Given the description of an element on the screen output the (x, y) to click on. 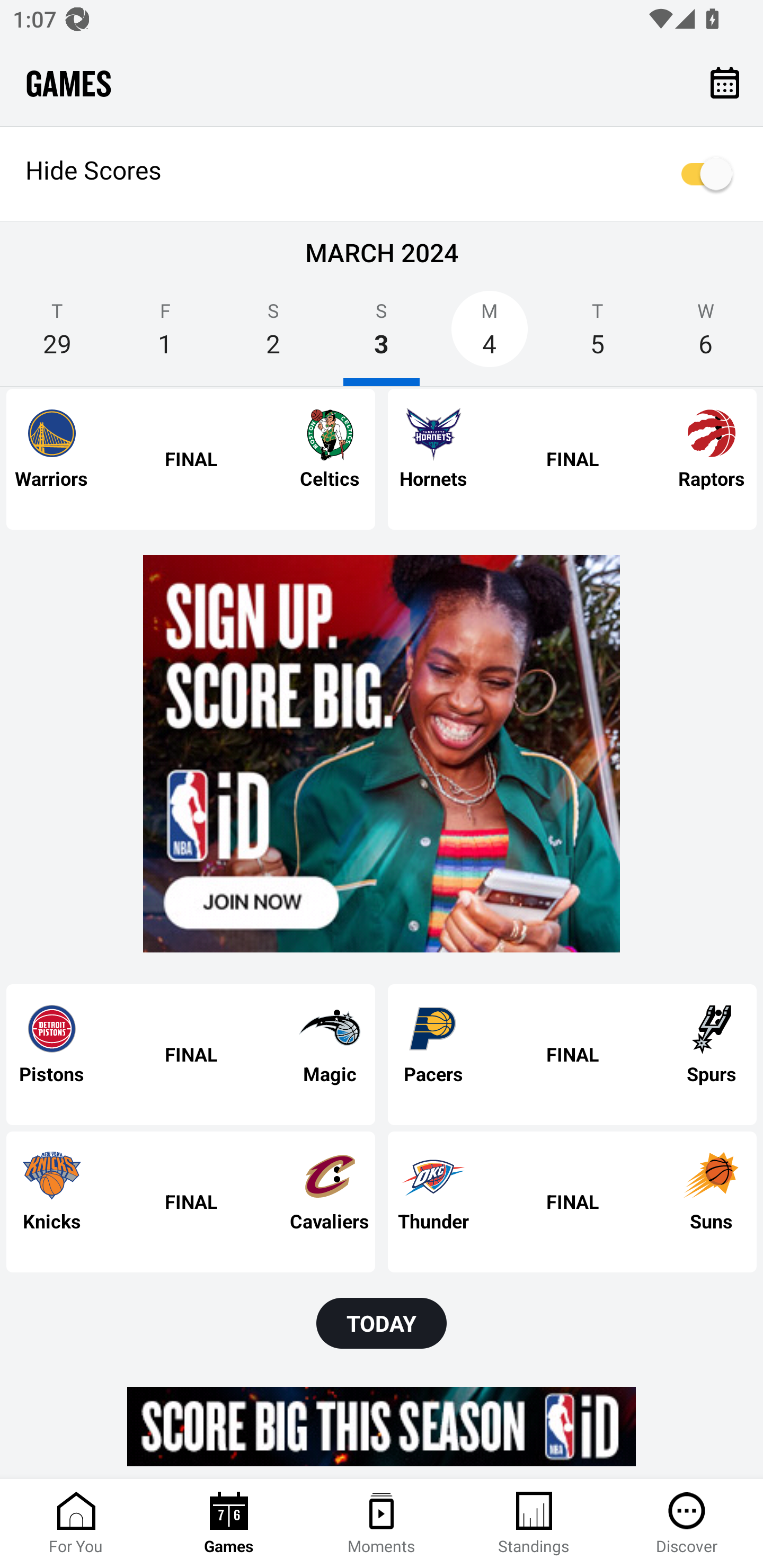
Calendar (724, 81)
Hide Scores (381, 174)
T 29 (57, 334)
F 1 (165, 334)
S 2 (273, 334)
S 3 (381, 334)
M 4 (489, 334)
T 5 (597, 334)
W 6 (705, 334)
Post Game - Pistons at Magic Pistons FINAL Magic (190, 1054)
Post Game - Pacers at Spurs Pacers FINAL Spurs (571, 1054)
Post Game - Thunder at Suns Thunder FINAL Suns (571, 1201)
TODAY (381, 1323)
For You (76, 1523)
Moments (381, 1523)
Standings (533, 1523)
Discover (686, 1523)
